Given the description of an element on the screen output the (x, y) to click on. 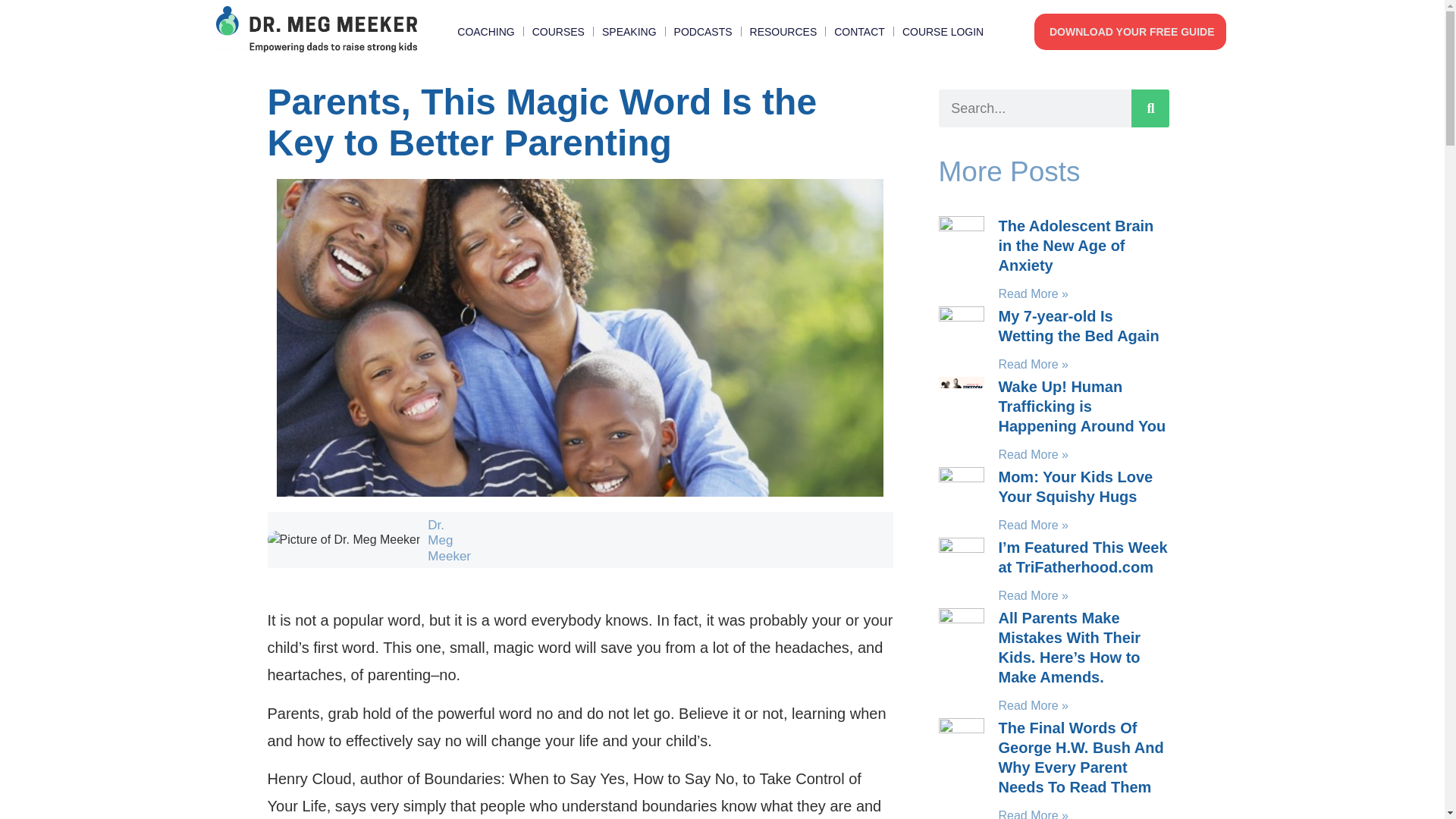
SPEAKING (629, 31)
RESOURCES (782, 31)
COURSES (558, 31)
PODCASTS (703, 31)
CONTACT (859, 31)
COURSE LOGIN (943, 31)
COACHING (485, 31)
